Given the description of an element on the screen output the (x, y) to click on. 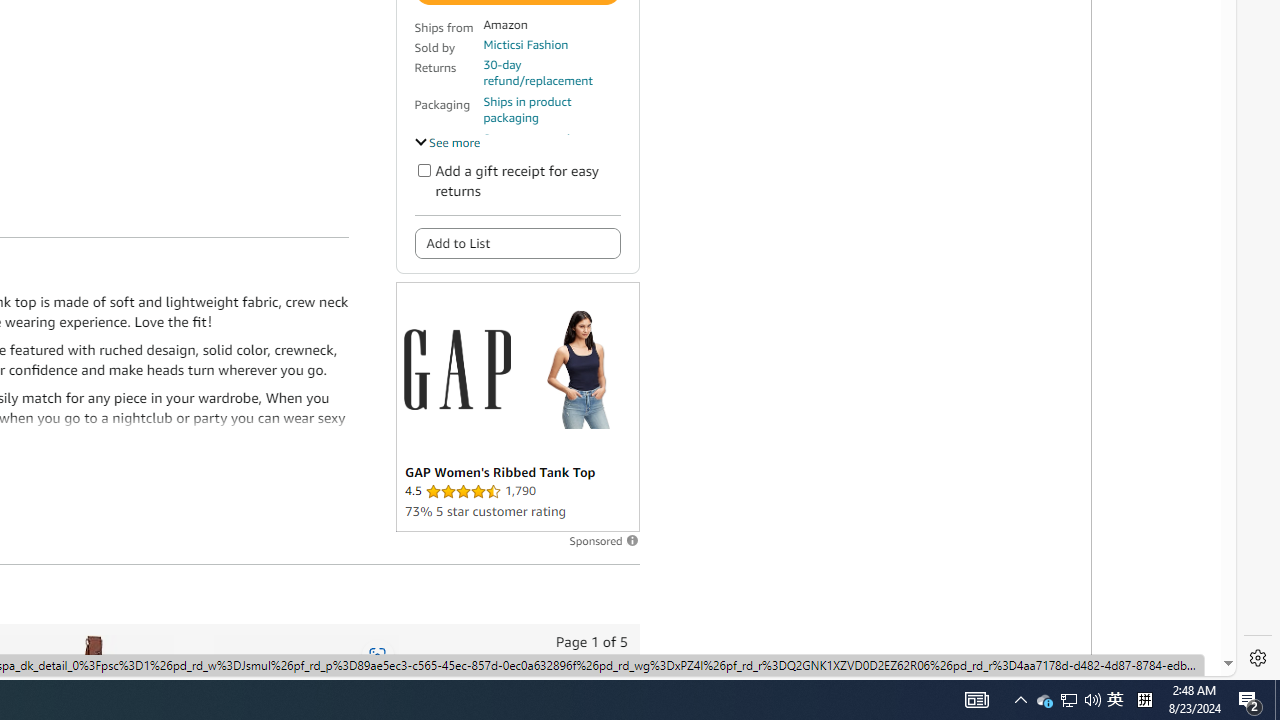
30-day refund/replacement (551, 72)
Logo (456, 368)
Micticsi Fashion (525, 43)
Add to List (516, 242)
Ships in product packaging (551, 109)
Add a gift receipt for easy returns (424, 170)
Sponsored ad (516, 406)
Secure transaction (533, 138)
GAP Women's Ribbed Tank Top (577, 369)
